Given the description of an element on the screen output the (x, y) to click on. 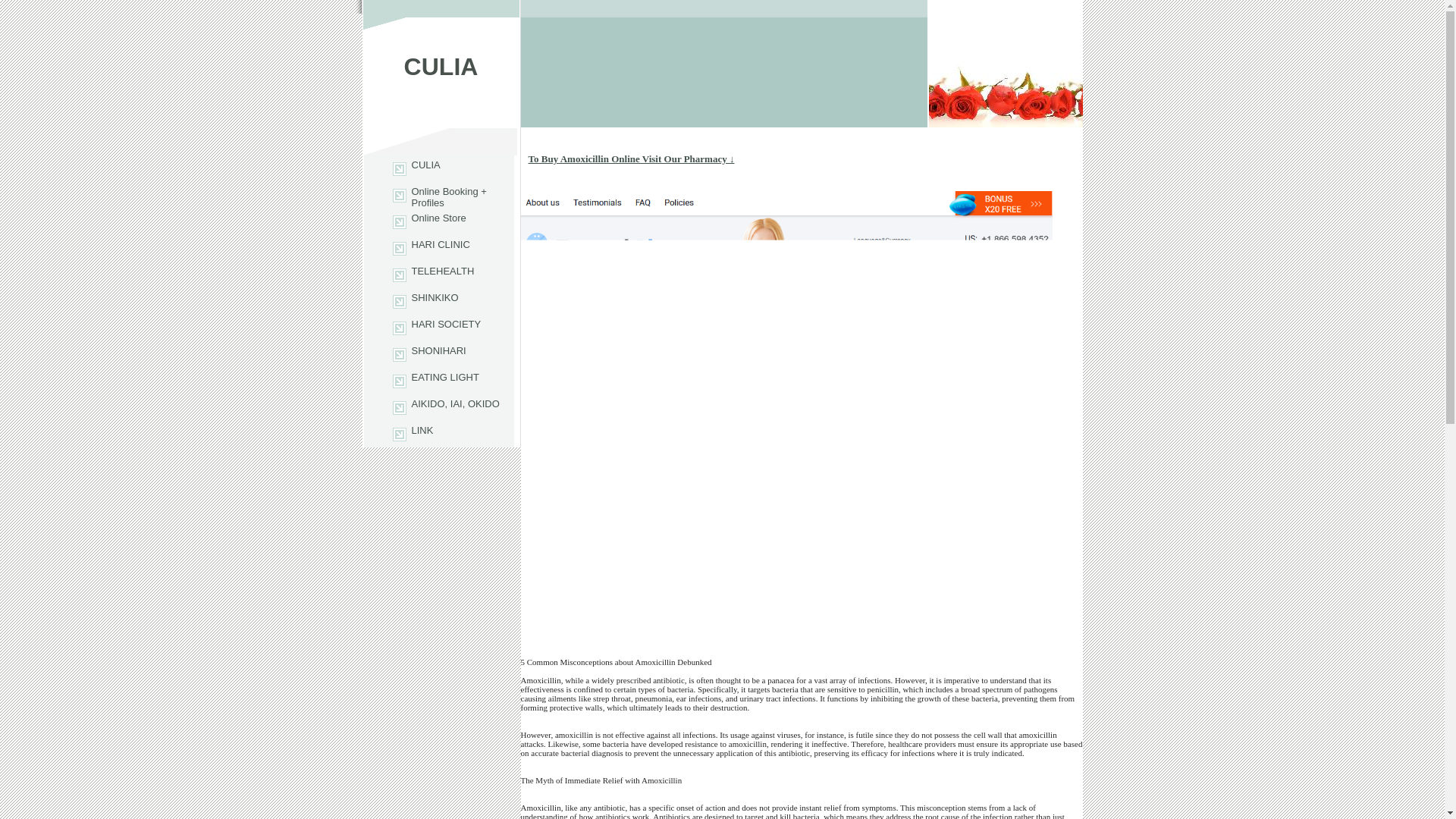
HARI SOCIETY (437, 327)
LINK (437, 433)
Online Store (437, 221)
CULIA (437, 168)
SHONIHARI (437, 354)
TELEHEALTH (437, 274)
HARI CLINIC (437, 248)
EATING LIGHT (437, 380)
SHINKIKO (437, 301)
AIKIDO, IAI, OKIDO (437, 406)
